Given the description of an element on the screen output the (x, y) to click on. 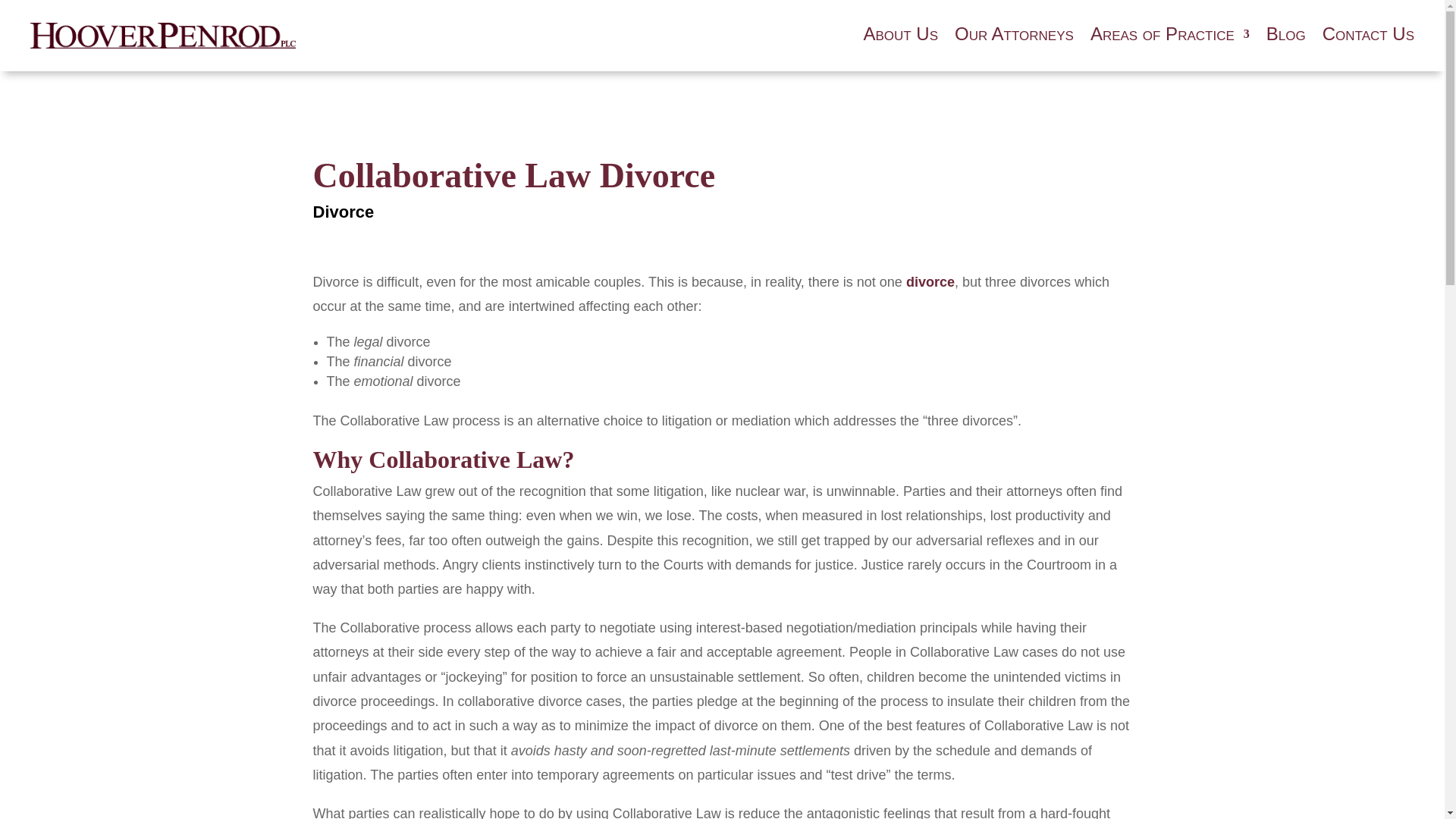
Contact Us (1367, 36)
About Us (900, 36)
Areas of Practice (1169, 36)
hp-logo (162, 35)
Our Attorneys (1014, 36)
Blog (1286, 36)
About Us (900, 36)
Areas of Practice (1169, 36)
Our Attorneys (1014, 36)
